Given the description of an element on the screen output the (x, y) to click on. 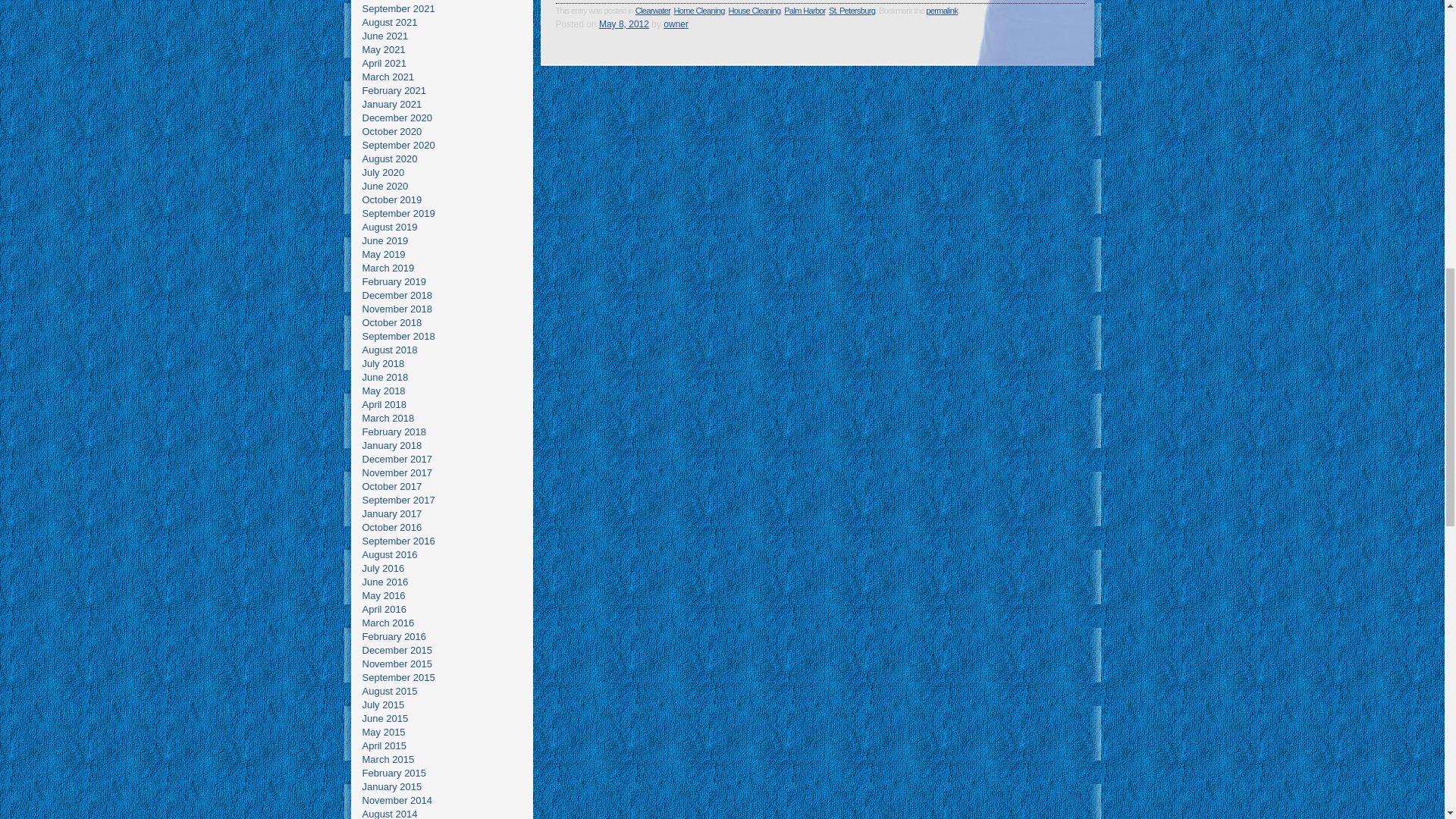
View all posts by owner (675, 23)
St. Petersburg (851, 10)
permalink (942, 10)
10:14 pm (623, 23)
Palm Harbor (804, 10)
Clearwater (651, 10)
owner (675, 23)
Home Cleaning (697, 10)
House Cleaning (754, 10)
